Given the description of an element on the screen output the (x, y) to click on. 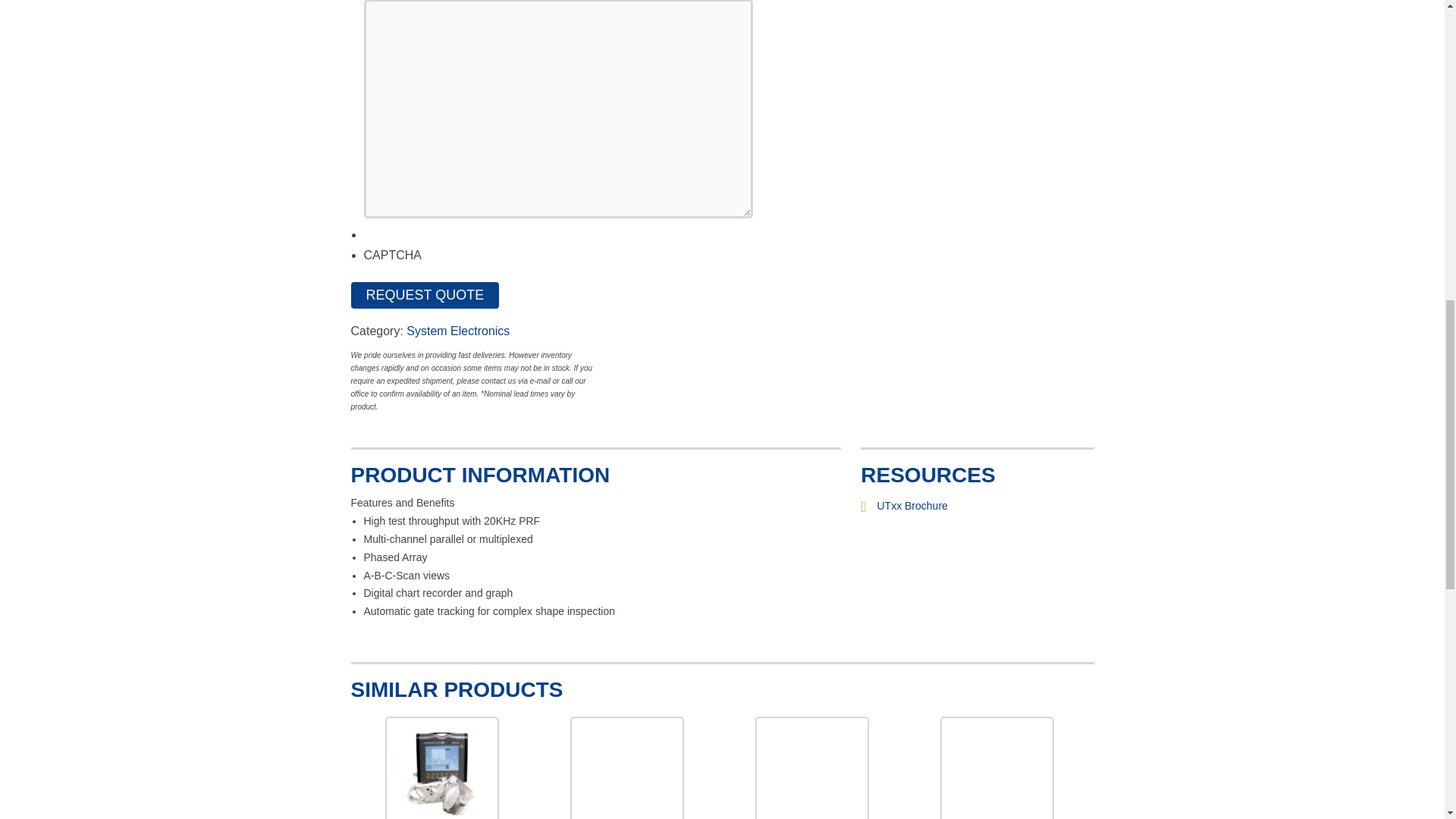
Request Quote (424, 294)
